Given the description of an element on the screen output the (x, y) to click on. 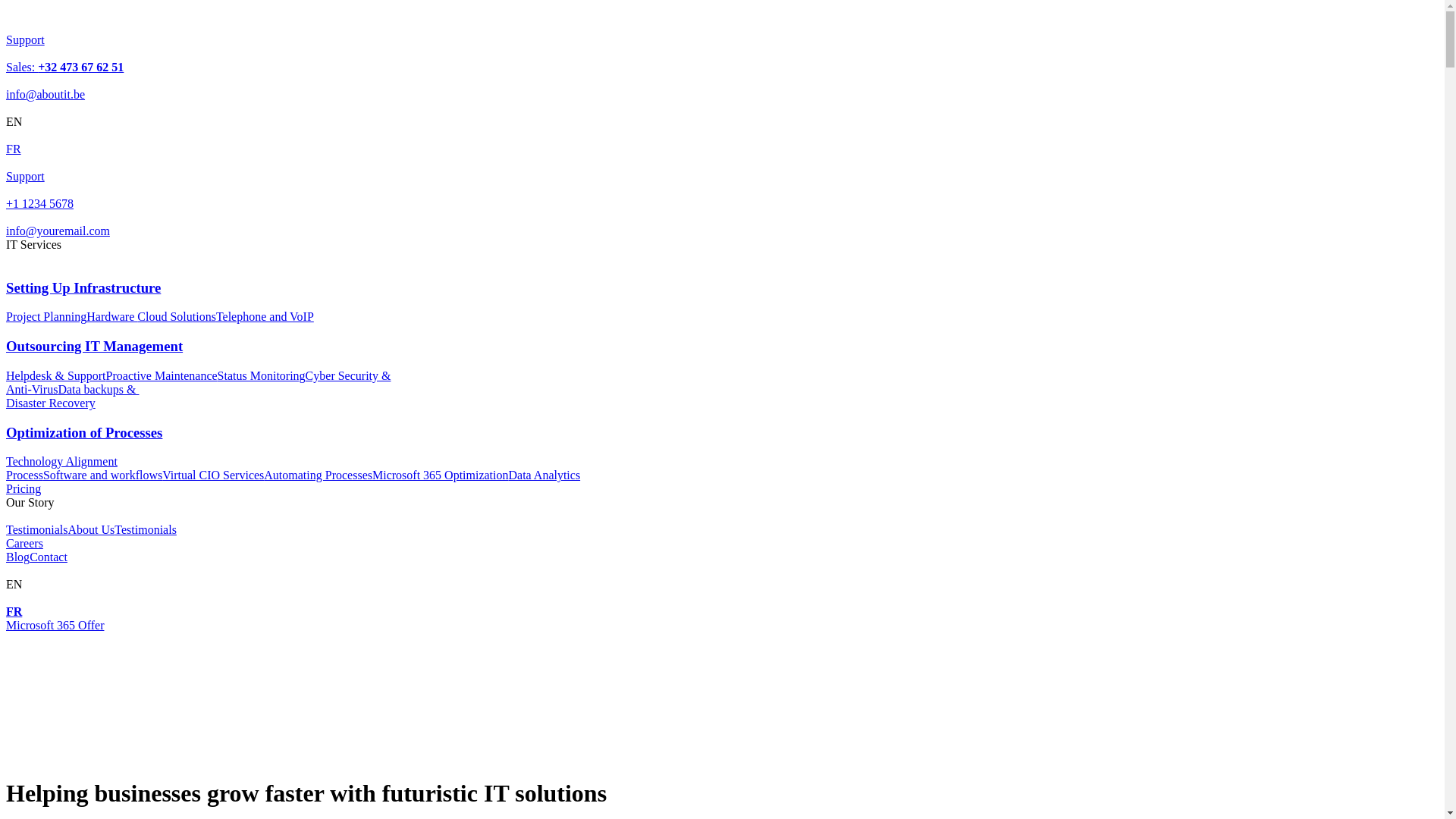
info@youremail.com Element type: text (722, 237)
Cloud Solutions Element type: text (176, 316)
Status Monitoring Element type: text (261, 375)
Virtual CIO Services Element type: text (212, 474)
Helpdesk & Support Element type: text (56, 375)
Optimization of Processes Element type: text (722, 446)
Technology Alignment
Process Element type: text (61, 468)
+1 1234 5678 Element type: text (722, 217)
Automating Processes Element type: text (317, 474)
info@aboutit.be Element type: text (722, 101)
FR Element type: text (722, 604)
Microsoft 365 Optimization Element type: text (440, 474)
Project Planning Element type: text (46, 316)
Careers Element type: text (24, 542)
Outsourcing IT Management Element type: text (722, 360)
Testimonials Element type: text (145, 529)
About Us Element type: text (91, 529)
Data backups & 
Disaster Recovery Element type: text (72, 395)
Cyber Security &
Anti-Virus Element type: text (198, 382)
Software and workflows Element type: text (102, 474)
Support Element type: text (722, 189)
Hardware Element type: text (111, 316)
Testimonials Element type: text (37, 529)
FR Element type: text (722, 142)
Support Element type: text (722, 53)
Proactive Maintenance Element type: text (161, 375)
Contact Element type: text (48, 556)
Microsoft 365 Offer Element type: text (54, 624)
Setting Up Infrastructure Element type: text (722, 301)
Data Analytics Element type: text (544, 474)
Pricing Element type: text (23, 488)
Sales: +32 473 67 62 51 Element type: text (722, 80)
Telephone and VoIP Element type: text (264, 316)
Blog Element type: text (17, 556)
